Given the description of an element on the screen output the (x, y) to click on. 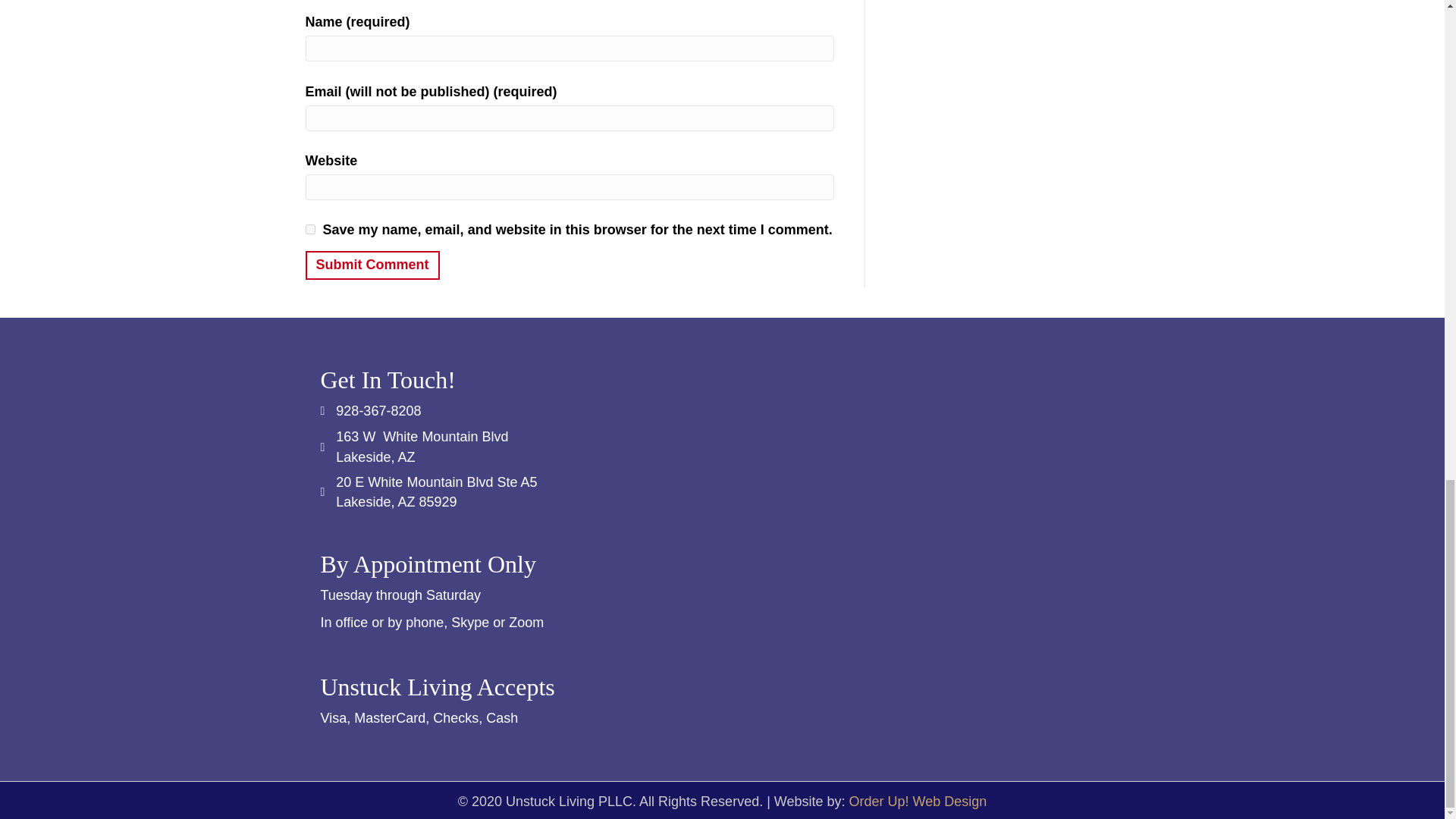
Submit Comment (371, 265)
Order Up! Web Design (917, 801)
Submit Comment (371, 265)
yes (309, 229)
